Given the description of an element on the screen output the (x, y) to click on. 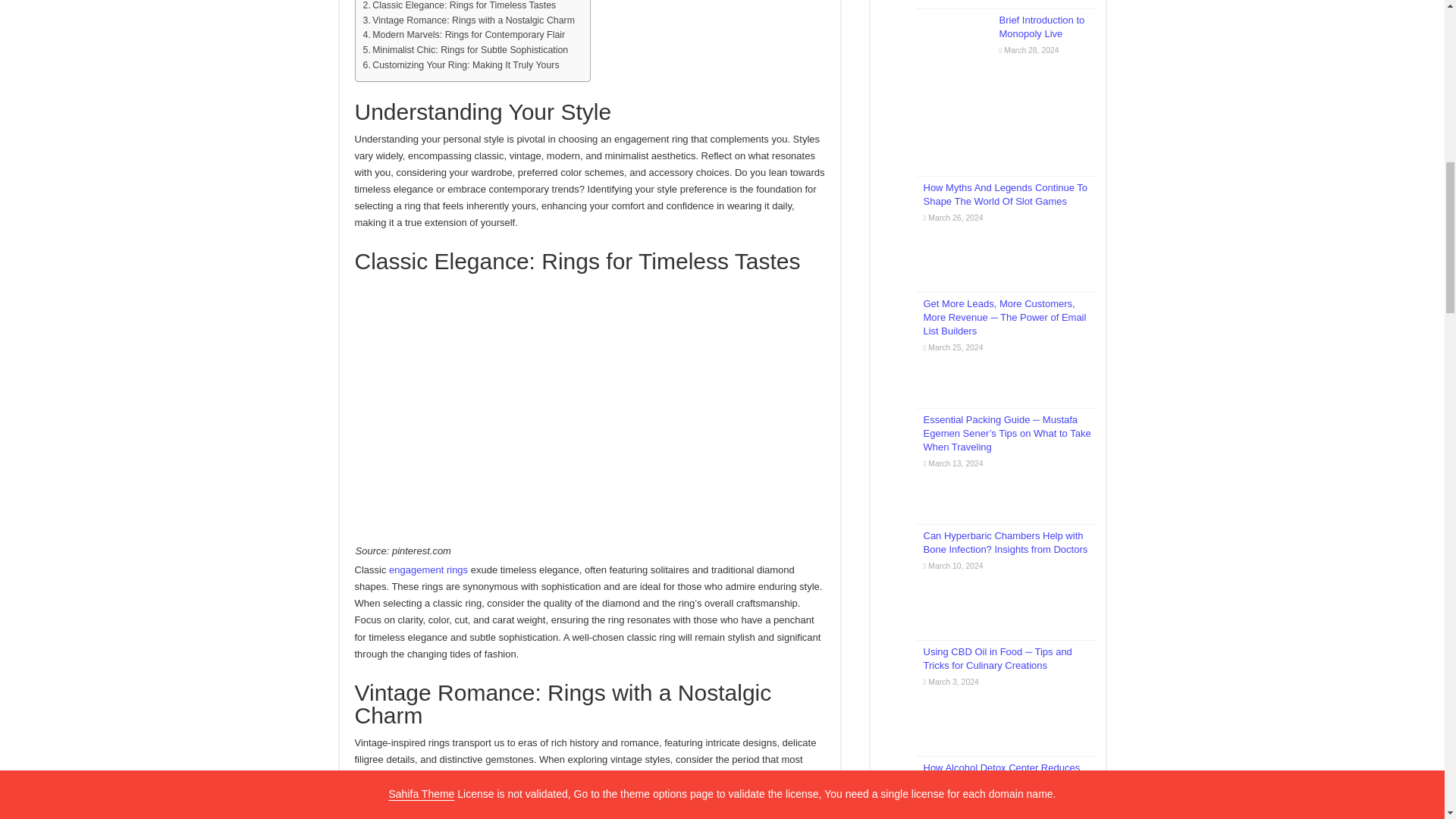
Modern Marvels: Rings for Contemporary Flair (463, 35)
Customizing Your Ring: Making It Truly Yours (460, 65)
Minimalist Chic: Rings for Subtle Sophistication (464, 50)
Scroll To Top (1421, 60)
Vintage Romance: Rings with a Nostalgic Charm (467, 20)
Classic Elegance: Rings for Timeless Tastes (459, 6)
engagement rings (427, 569)
Classic Elegance: Rings for Timeless Tastes (459, 6)
Minimalist Chic: Rings for Subtle Sophistication (464, 50)
Modern Marvels: Rings for Contemporary Flair (463, 35)
